Given the description of an element on the screen output the (x, y) to click on. 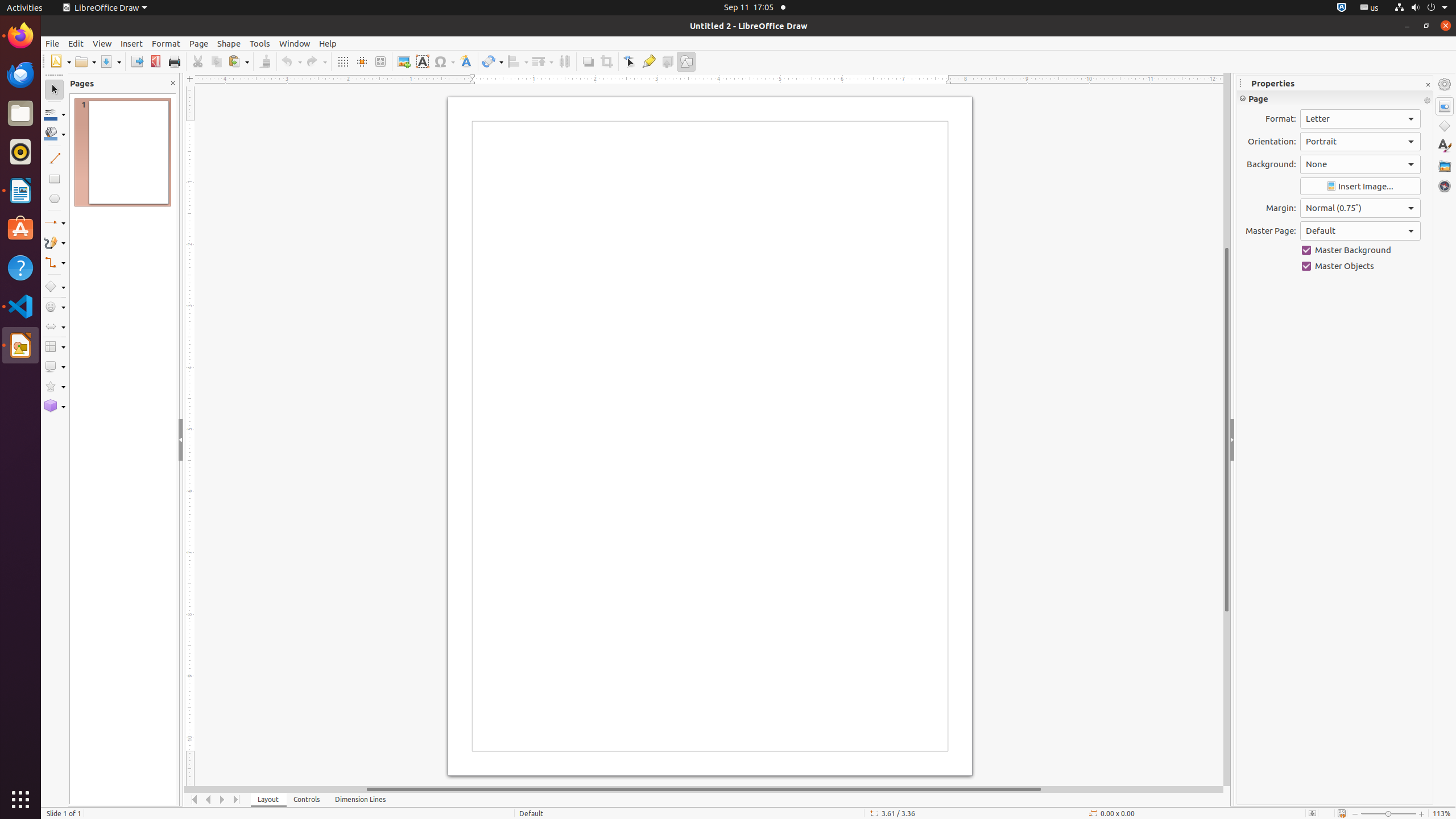
Clone Element type: push-button (264, 61)
LibreOffice Draw Element type: push-button (20, 344)
Edit Points Element type: push-button (629, 61)
Undo Element type: push-button (290, 61)
Properties Element type: radio-button (1444, 106)
